Given the description of an element on the screen output the (x, y) to click on. 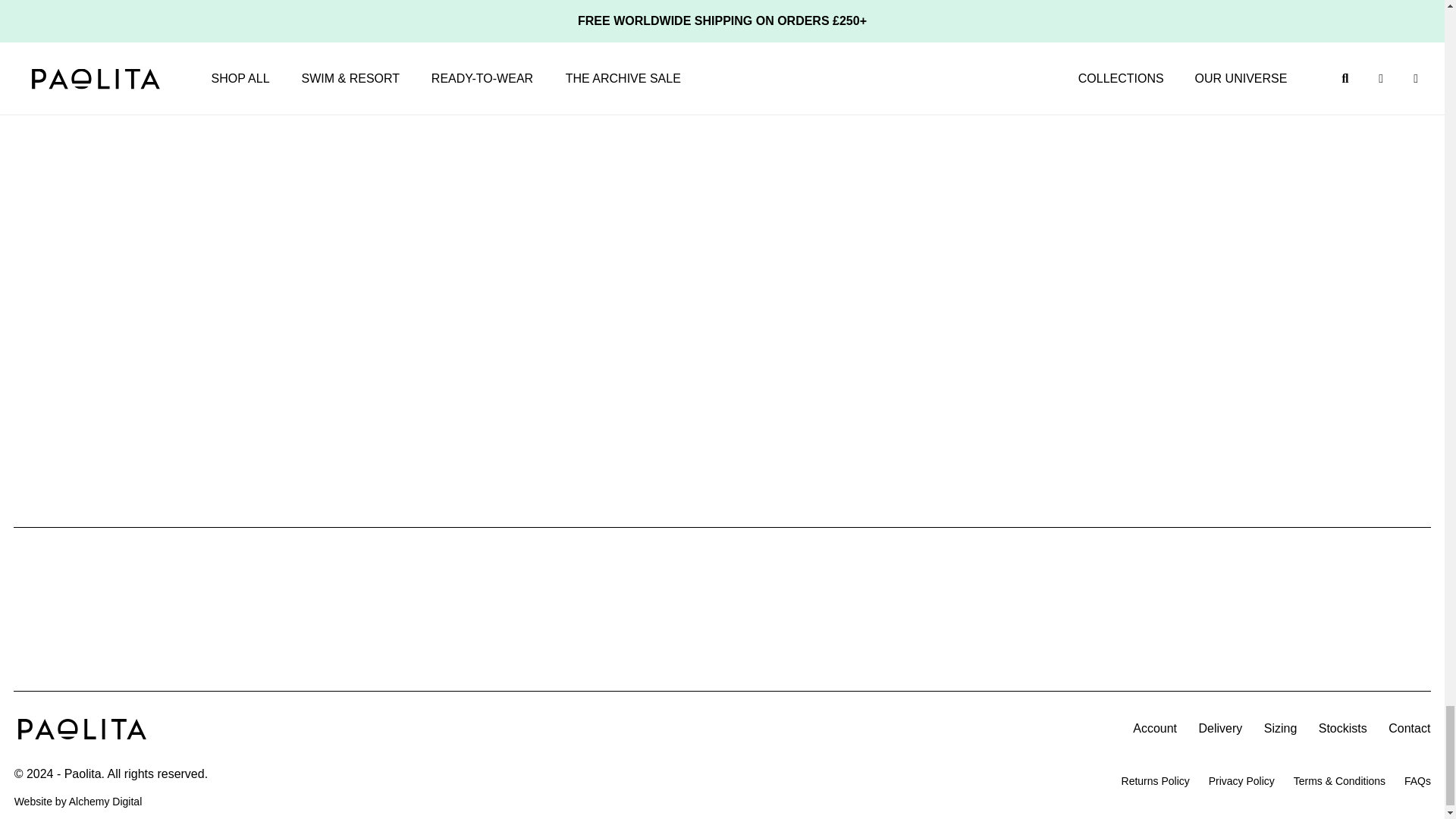
Website by Alchemy Digital (104, 801)
